Given the description of an element on the screen output the (x, y) to click on. 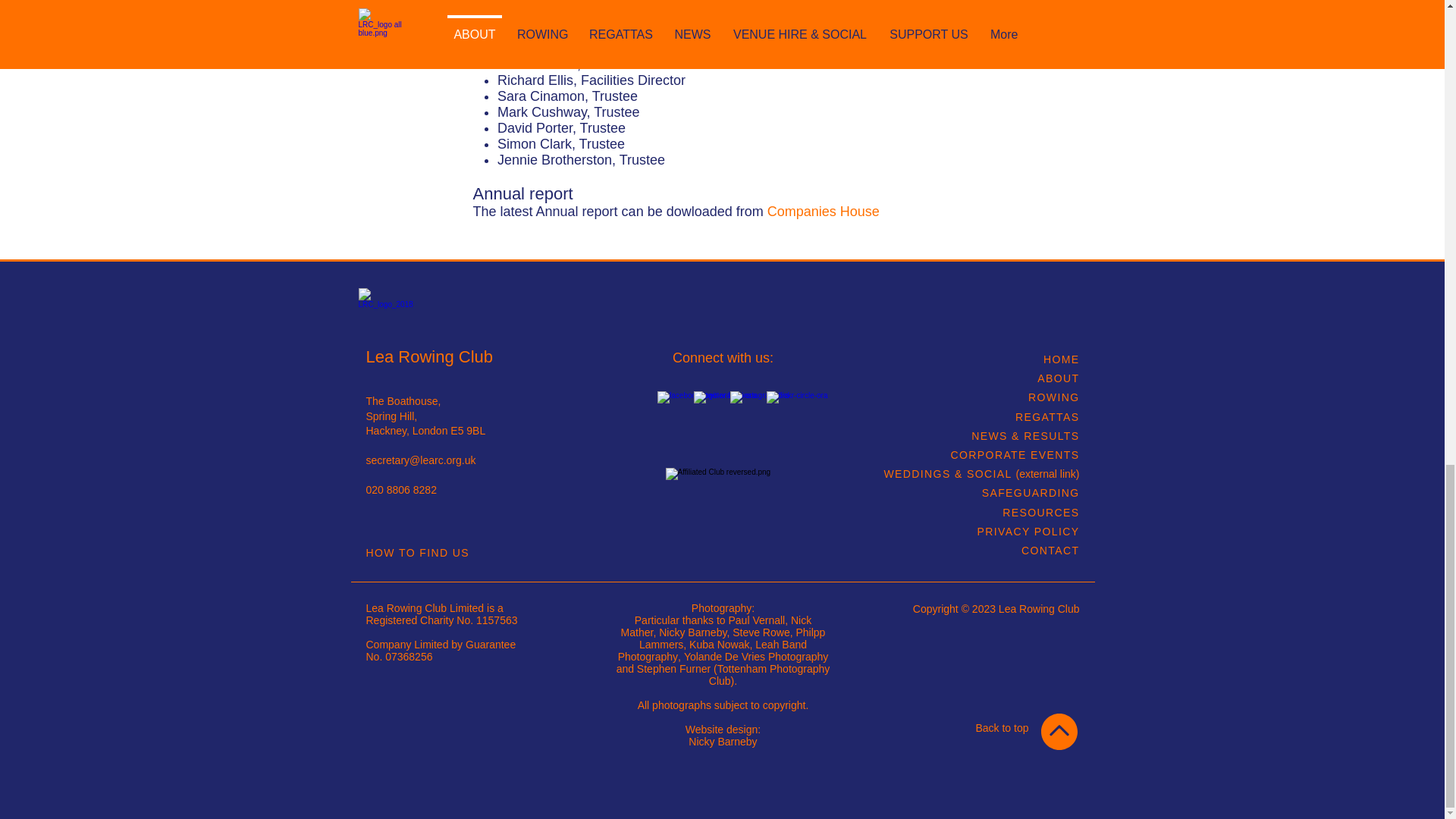
Companies House (823, 211)
HOW TO FIND US (416, 552)
020 8806 8282 (400, 490)
